Given the description of an element on the screen output the (x, y) to click on. 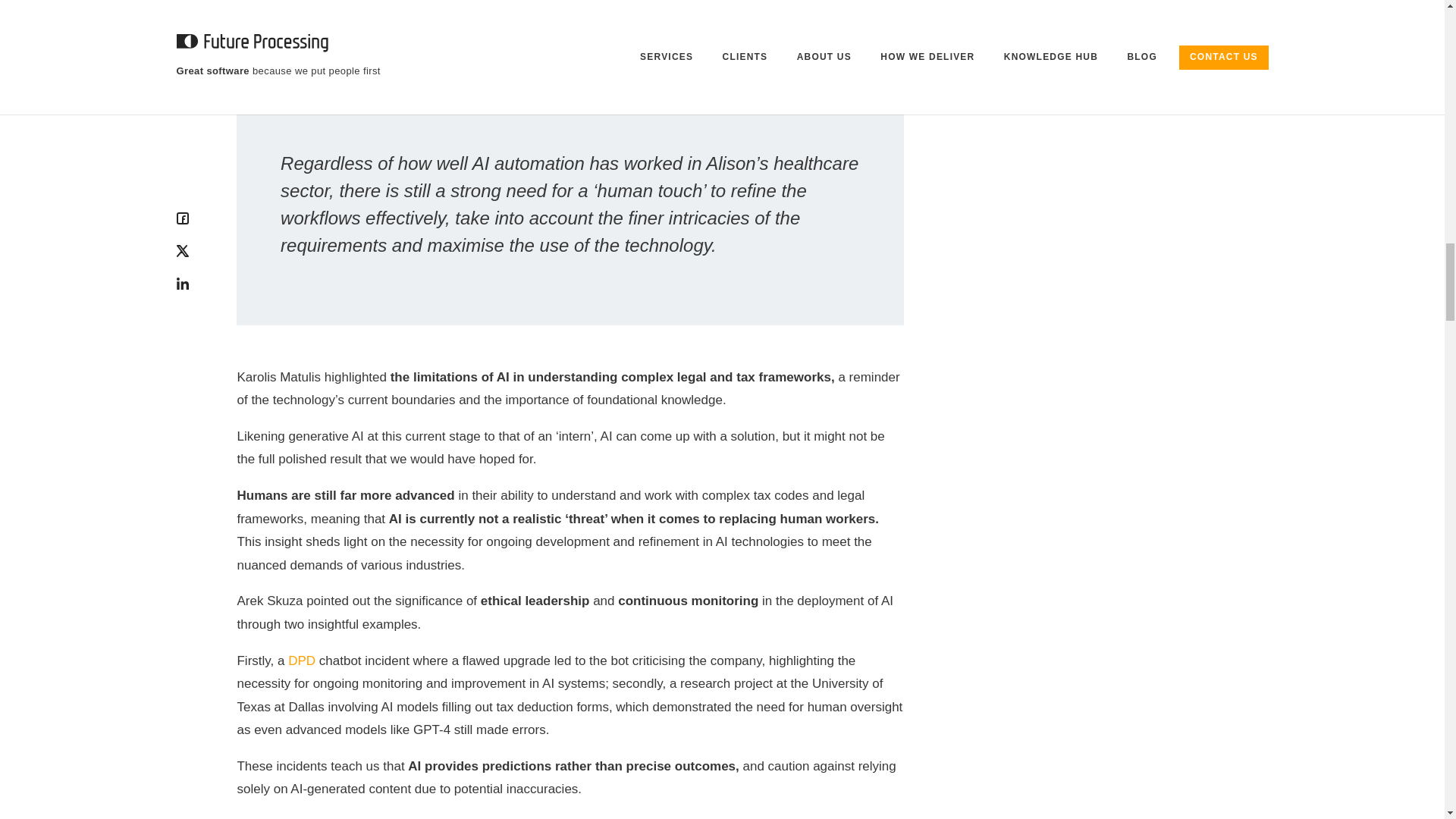
DPD (301, 660)
